Given the description of an element on the screen output the (x, y) to click on. 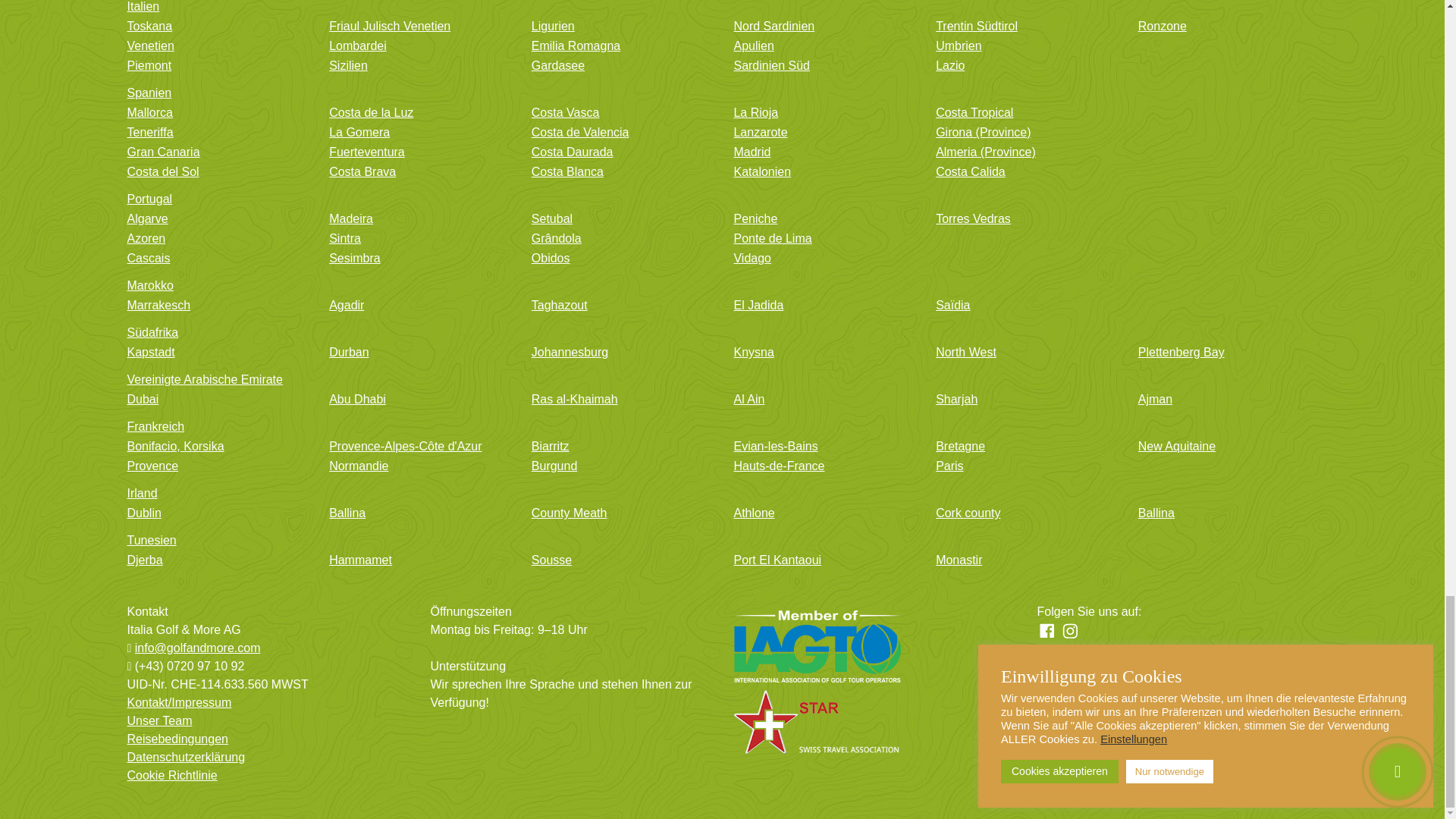
Venetien (217, 48)
Friaul Julisch Venetien (418, 28)
Toskana (217, 28)
Piemont (217, 67)
Italien (722, 9)
